Given the description of an element on the screen output the (x, y) to click on. 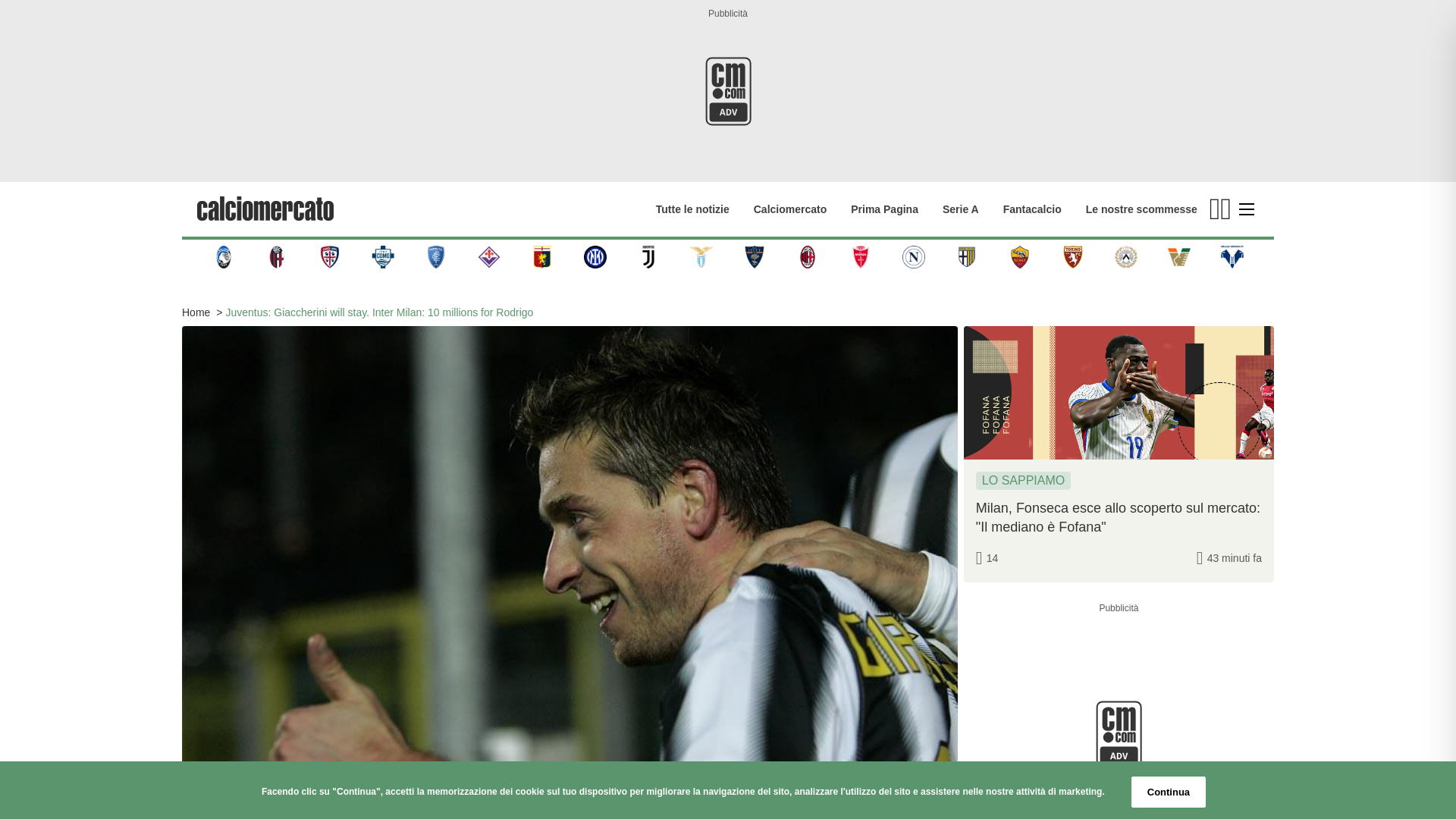
Le nostre scommesse (1141, 209)
Tutte le notizie (692, 209)
Calciomercato (790, 209)
Fantacalcio (1032, 209)
Prima Pagina (884, 209)
Serie A (960, 209)
